Given the description of an element on the screen output the (x, y) to click on. 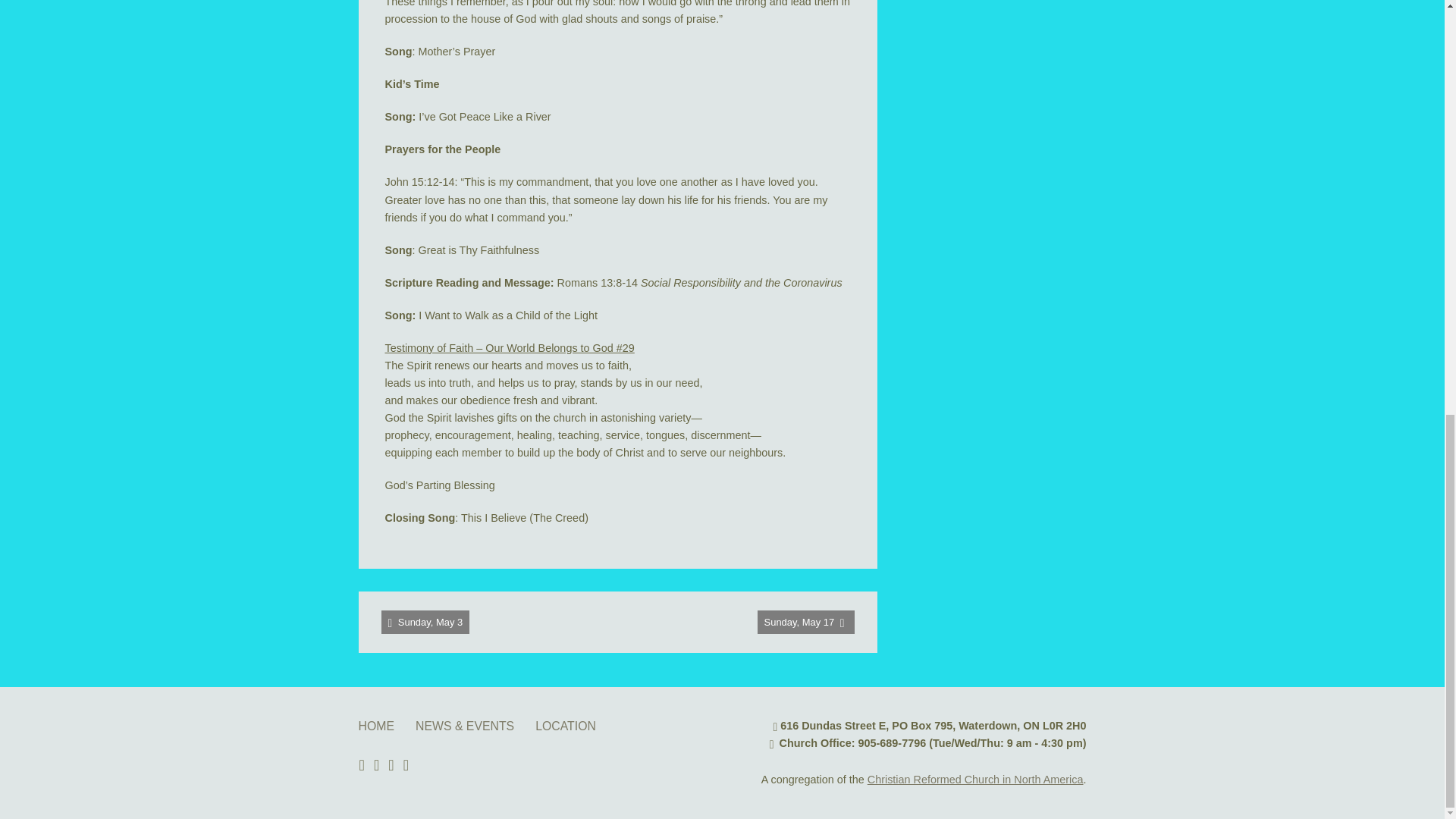
Learn more about the Christian Reformed Church (975, 779)
